Given the description of an element on the screen output the (x, y) to click on. 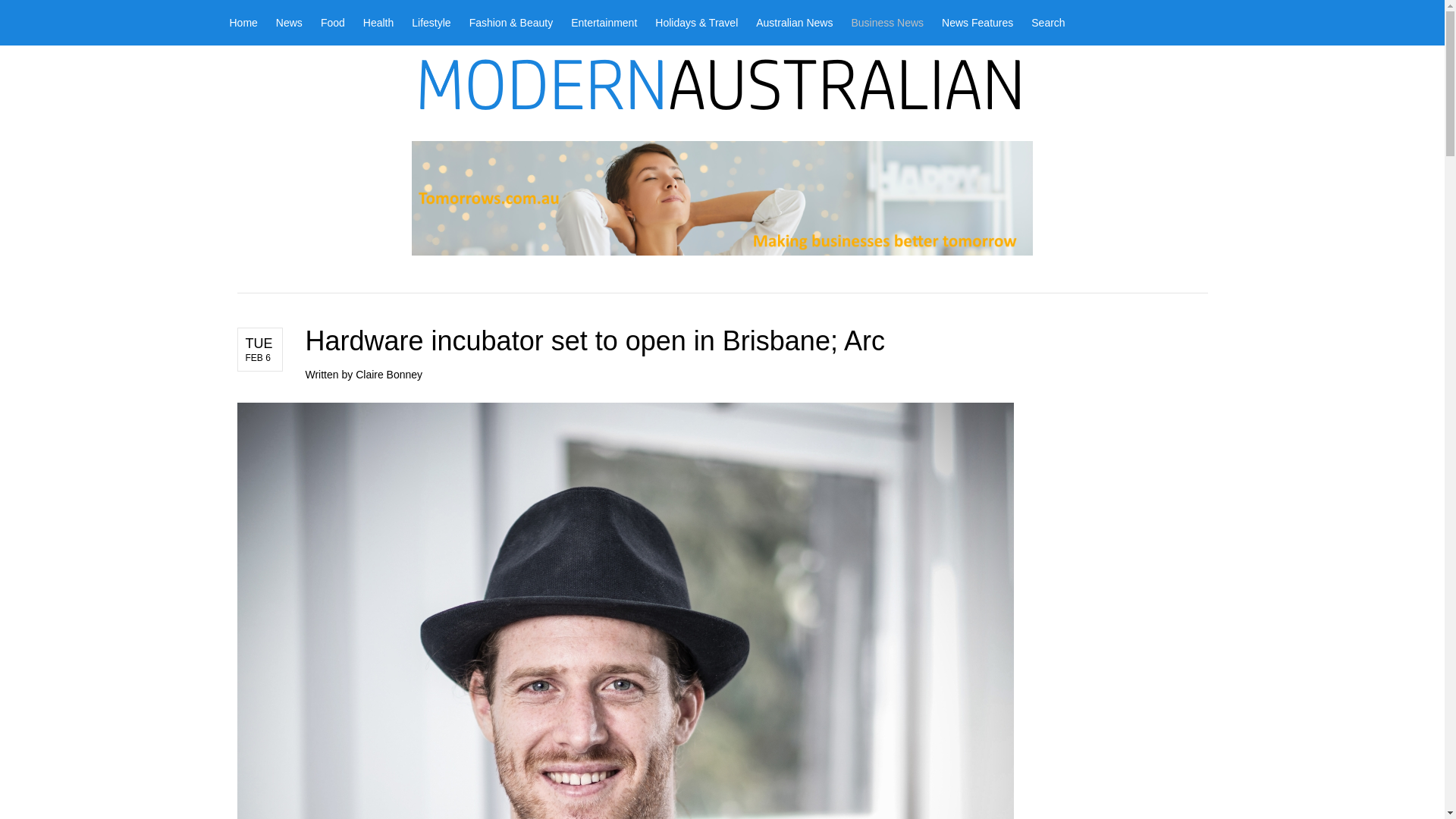
Food (332, 22)
Lifestyle (431, 22)
Entertainment (604, 22)
Home (247, 22)
News Features (977, 22)
Business News (887, 22)
Search (1043, 22)
Health (378, 22)
News (288, 22)
Australian News (793, 22)
